Given the description of an element on the screen output the (x, y) to click on. 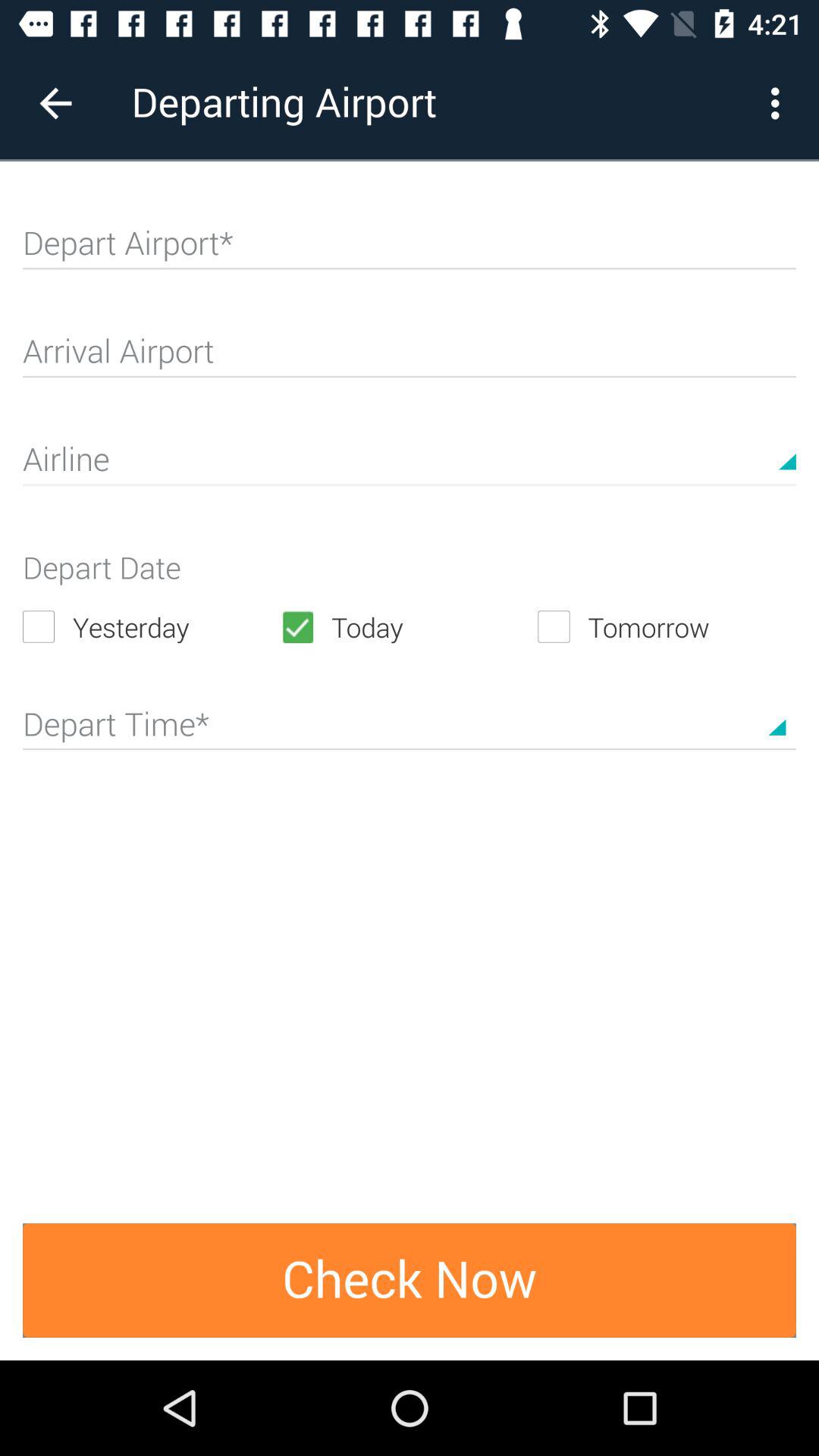
arrival airport search field (409, 357)
